Given the description of an element on the screen output the (x, y) to click on. 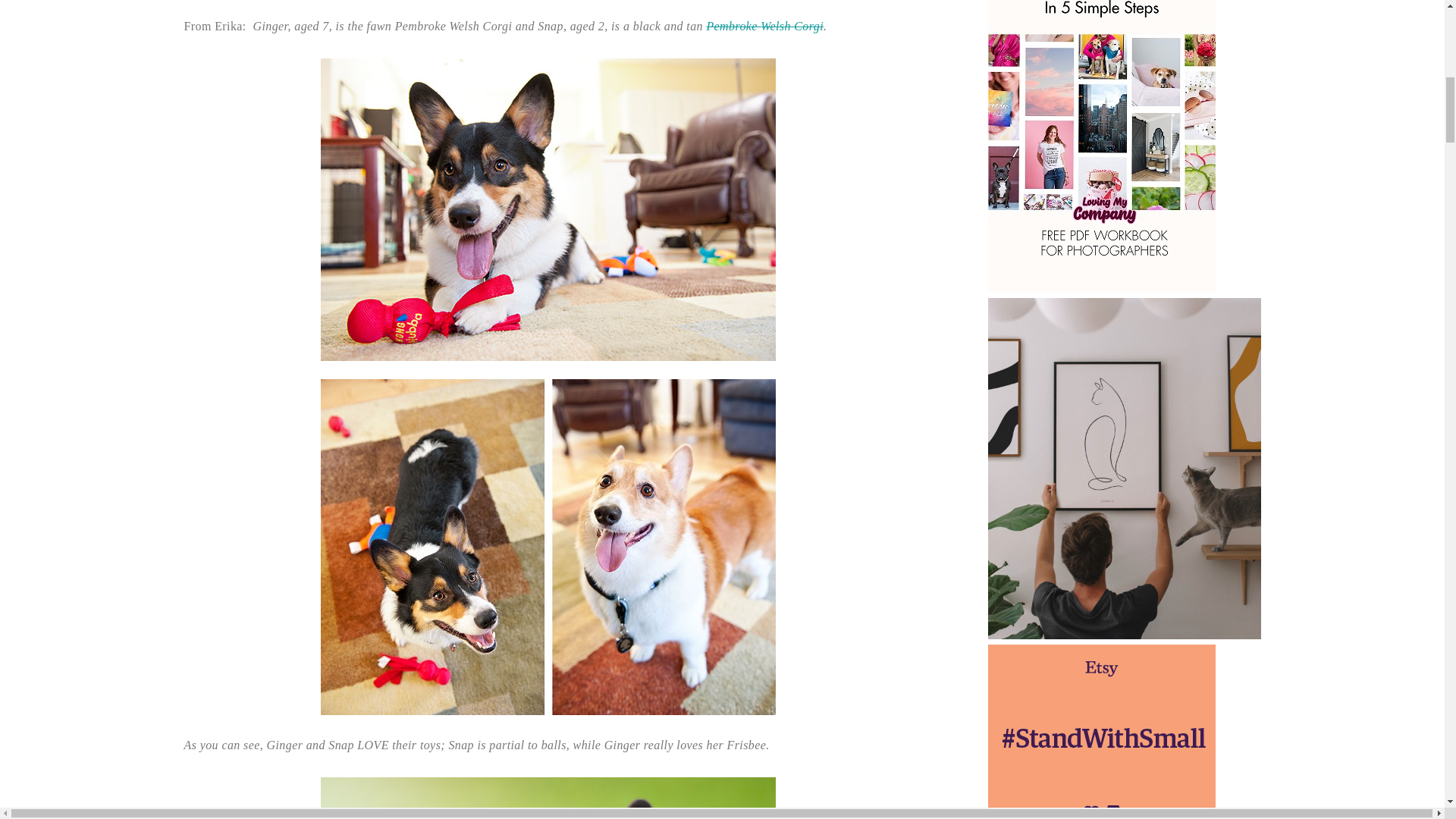
Pembroke Welsh Corgi (765, 25)
